Given the description of an element on the screen output the (x, y) to click on. 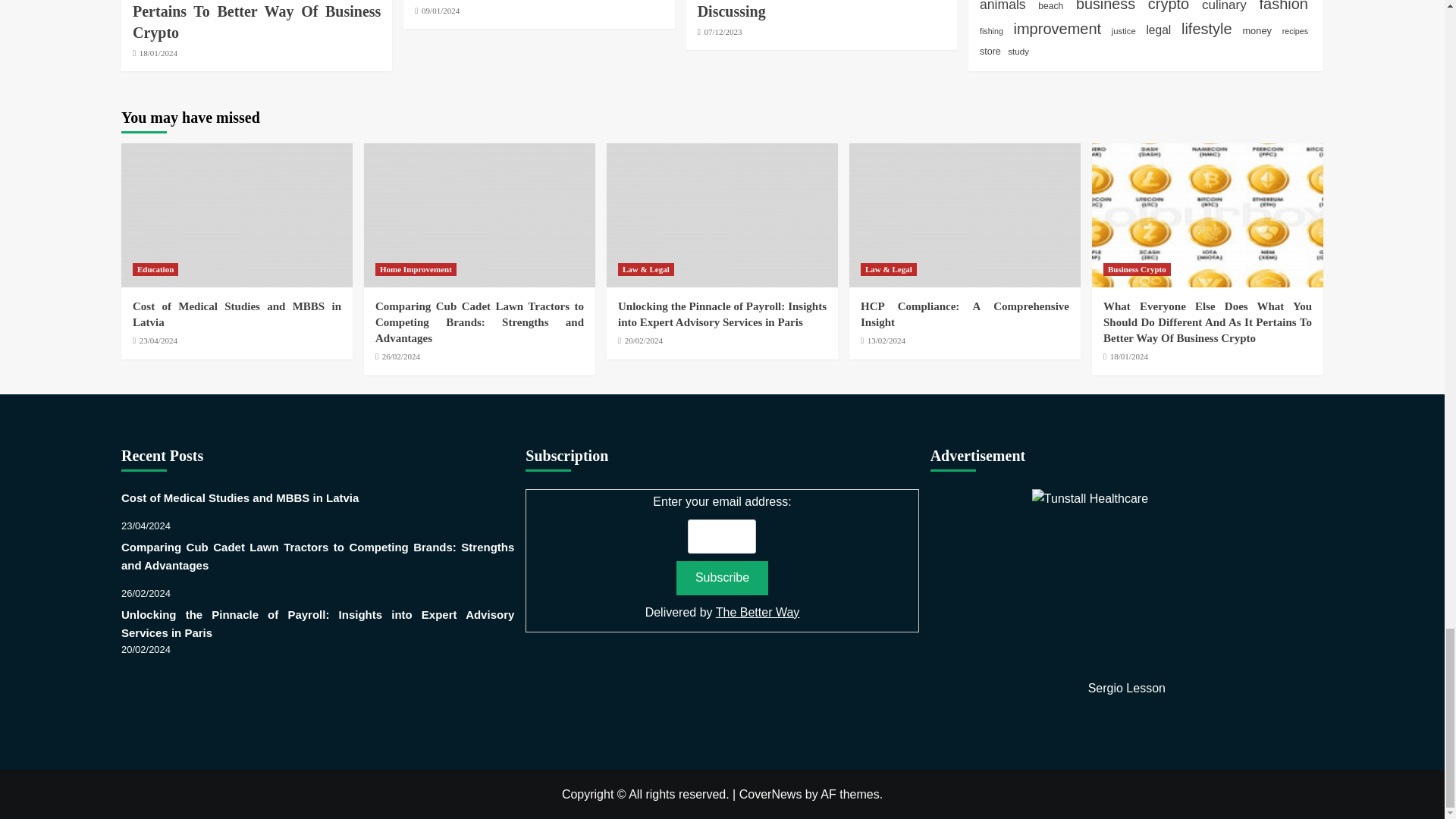
Subscribe (722, 578)
